Given the description of an element on the screen output the (x, y) to click on. 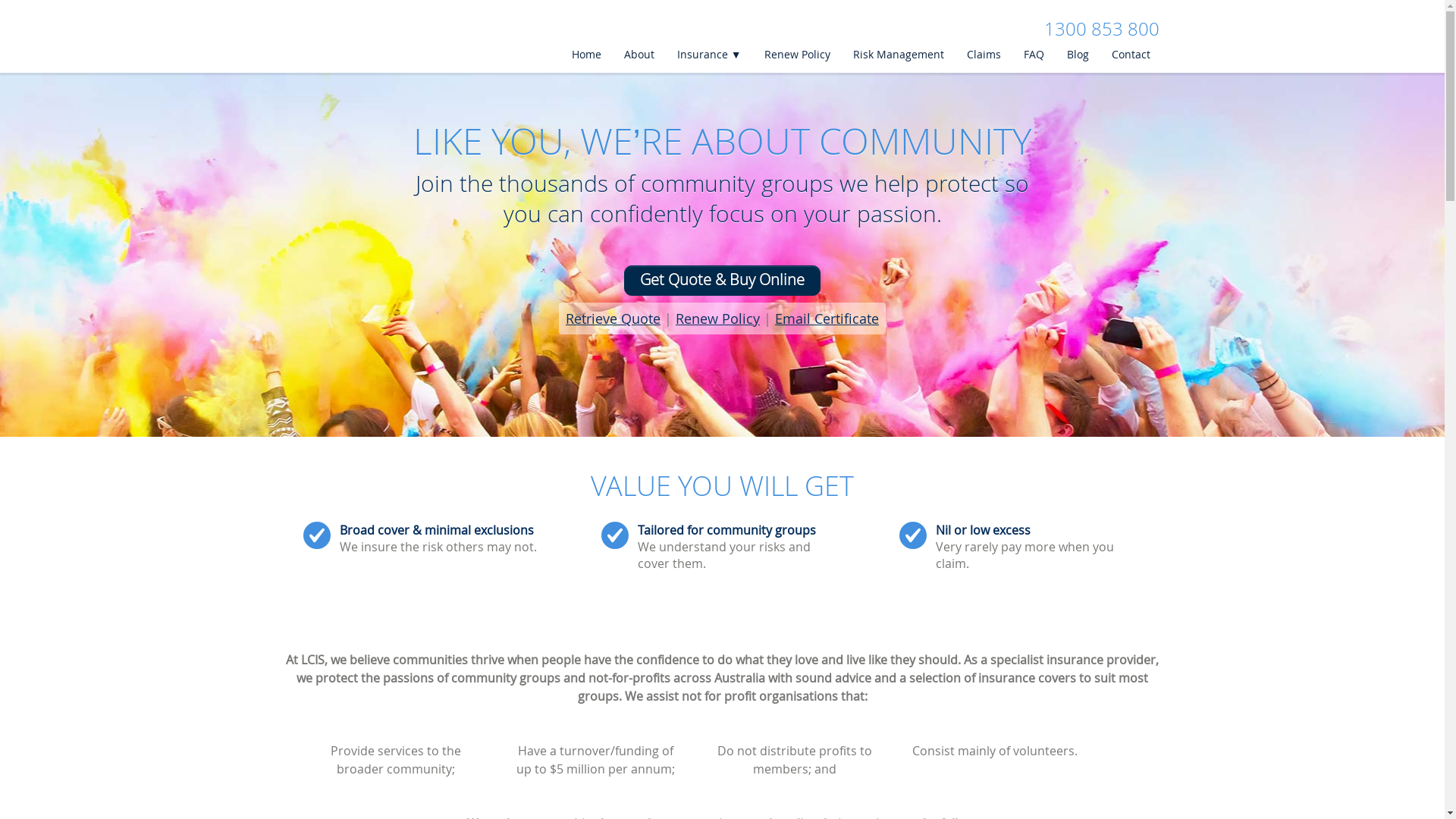
Renew Policy Element type: text (796, 54)
Risk Management Element type: text (897, 54)
Home Element type: text (585, 54)
Get Quote & Buy Online Element type: text (722, 280)
Email Certificate Element type: text (826, 318)
About Element type: text (638, 54)
Renew Policy Element type: text (717, 318)
Blog Element type: text (1077, 54)
FAQ Element type: text (1033, 54)
Claims Element type: text (983, 54)
Contact Element type: text (1130, 54)
Retrieve Quote Element type: text (612, 318)
1300 853 800 Element type: text (1100, 28)
